Given the description of an element on the screen output the (x, y) to click on. 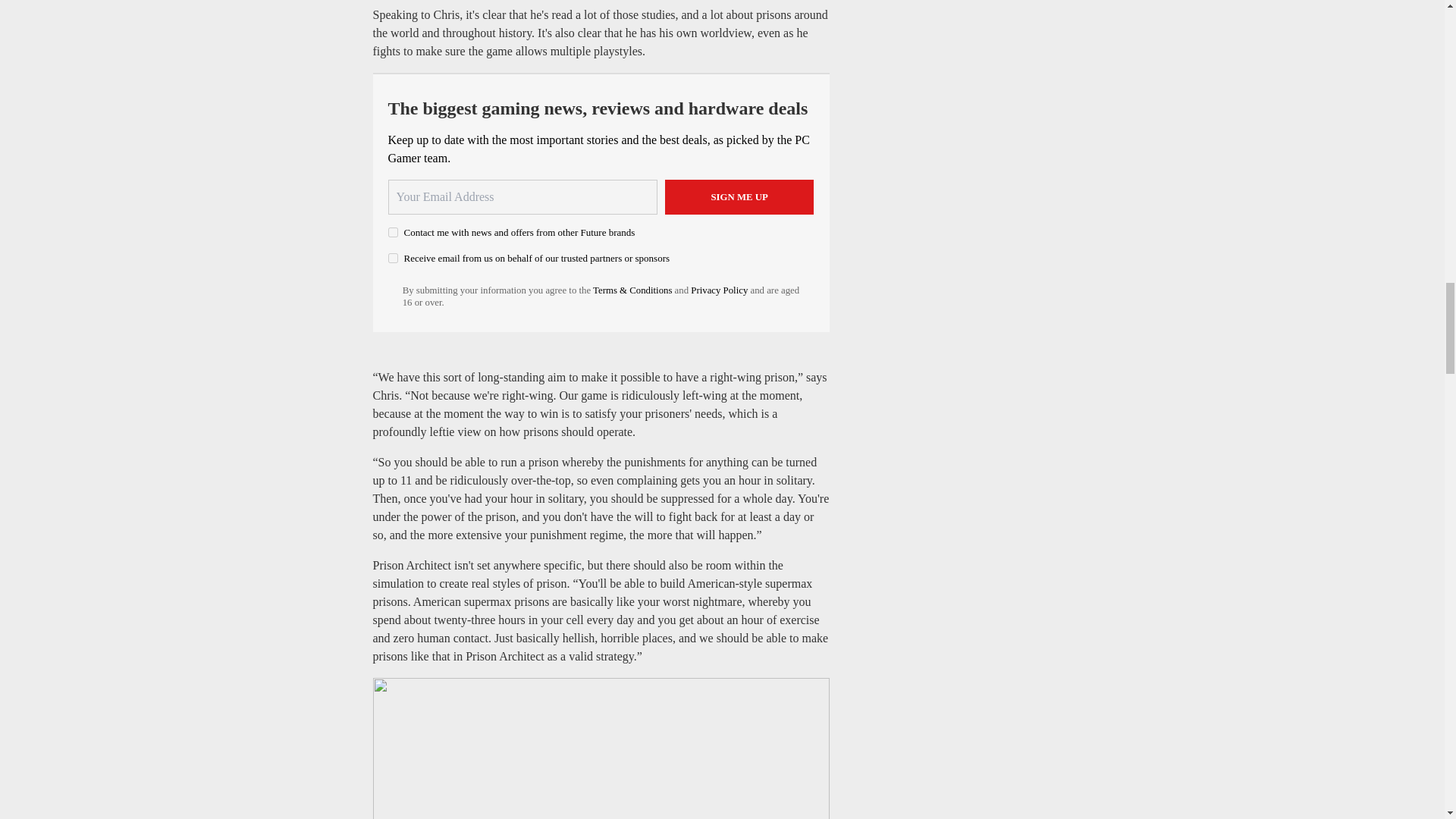
on (392, 257)
Sign me up (739, 196)
on (392, 232)
